Given the description of an element on the screen output the (x, y) to click on. 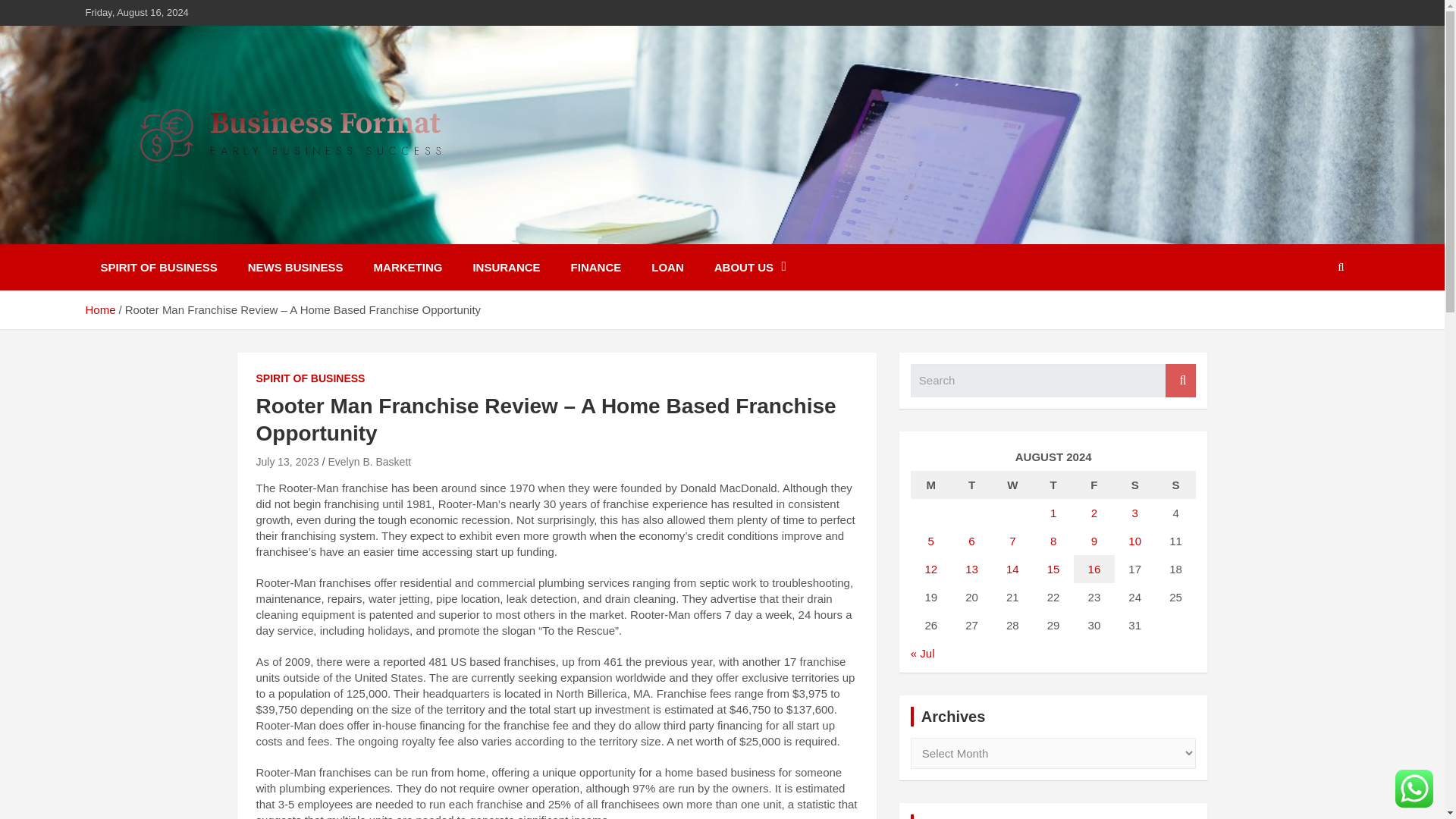
15 (1052, 568)
NEWS BUSINESS (295, 267)
Thursday (1053, 484)
MARKETING (408, 267)
13 (971, 568)
SPIRIT OF BUSINESS (310, 378)
FINANCE (596, 267)
SPIRIT OF BUSINESS (157, 267)
12 (930, 568)
Business Format (207, 233)
